Given the description of an element on the screen output the (x, y) to click on. 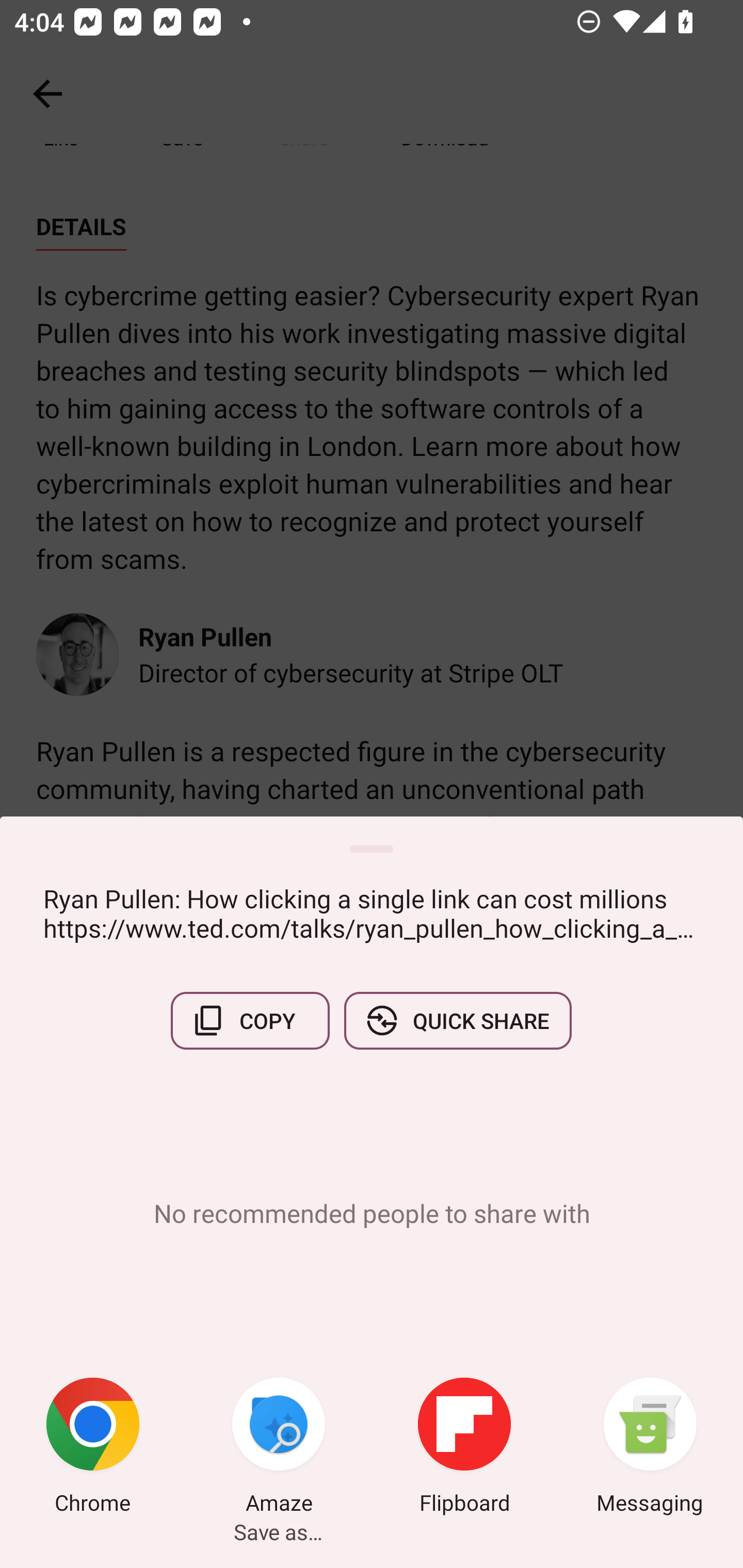
COPY (249, 1020)
QUICK SHARE (457, 1020)
Chrome (92, 1448)
Amaze Save as… (278, 1448)
Flipboard (464, 1448)
Messaging (650, 1448)
